Given the description of an element on the screen output the (x, y) to click on. 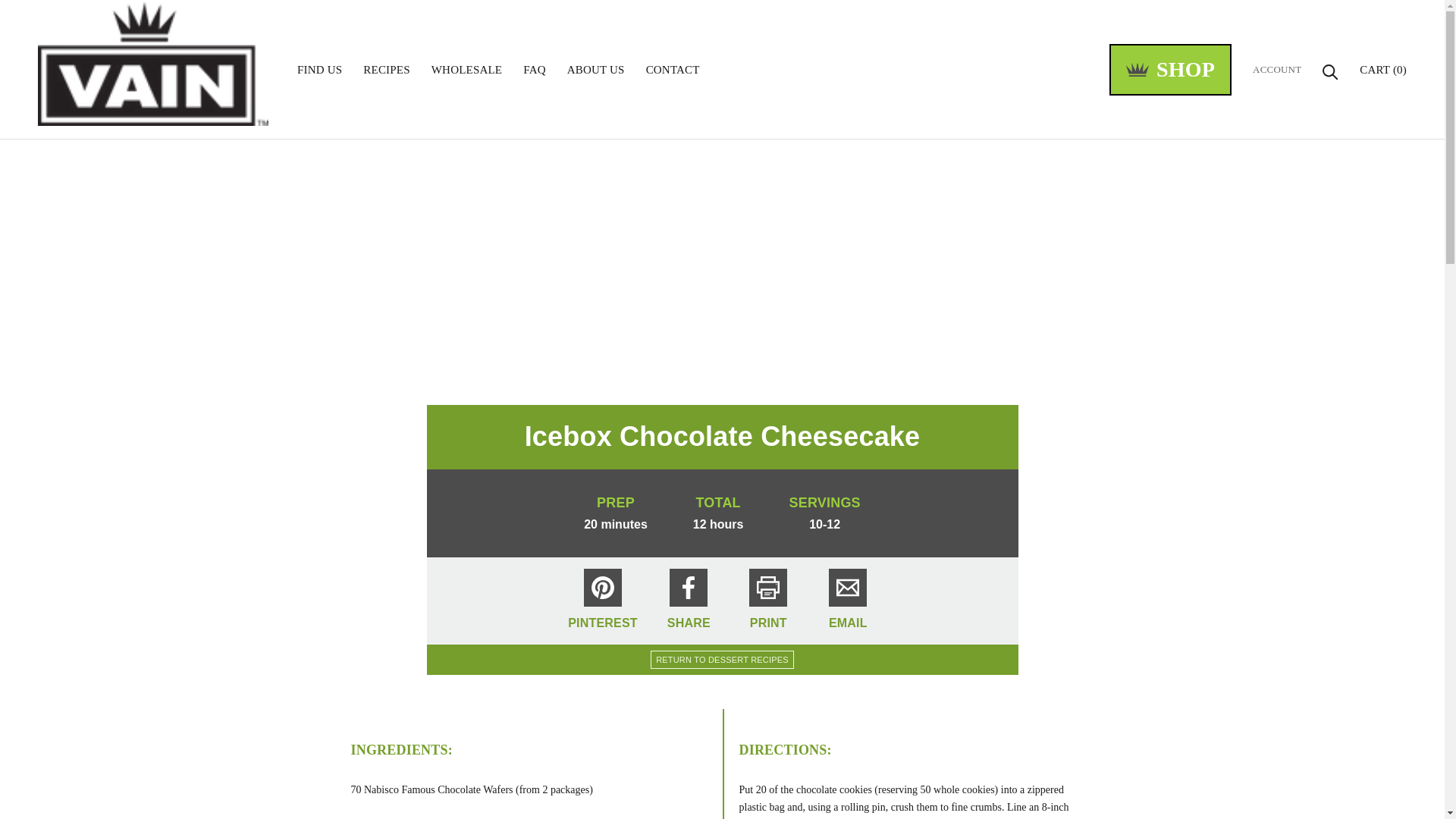
PRINT (767, 600)
SHOP (1170, 69)
SHARE (385, 69)
ACCOUNT (673, 69)
PINTEREST (689, 600)
EMAIL (466, 69)
